Given the description of an element on the screen output the (x, y) to click on. 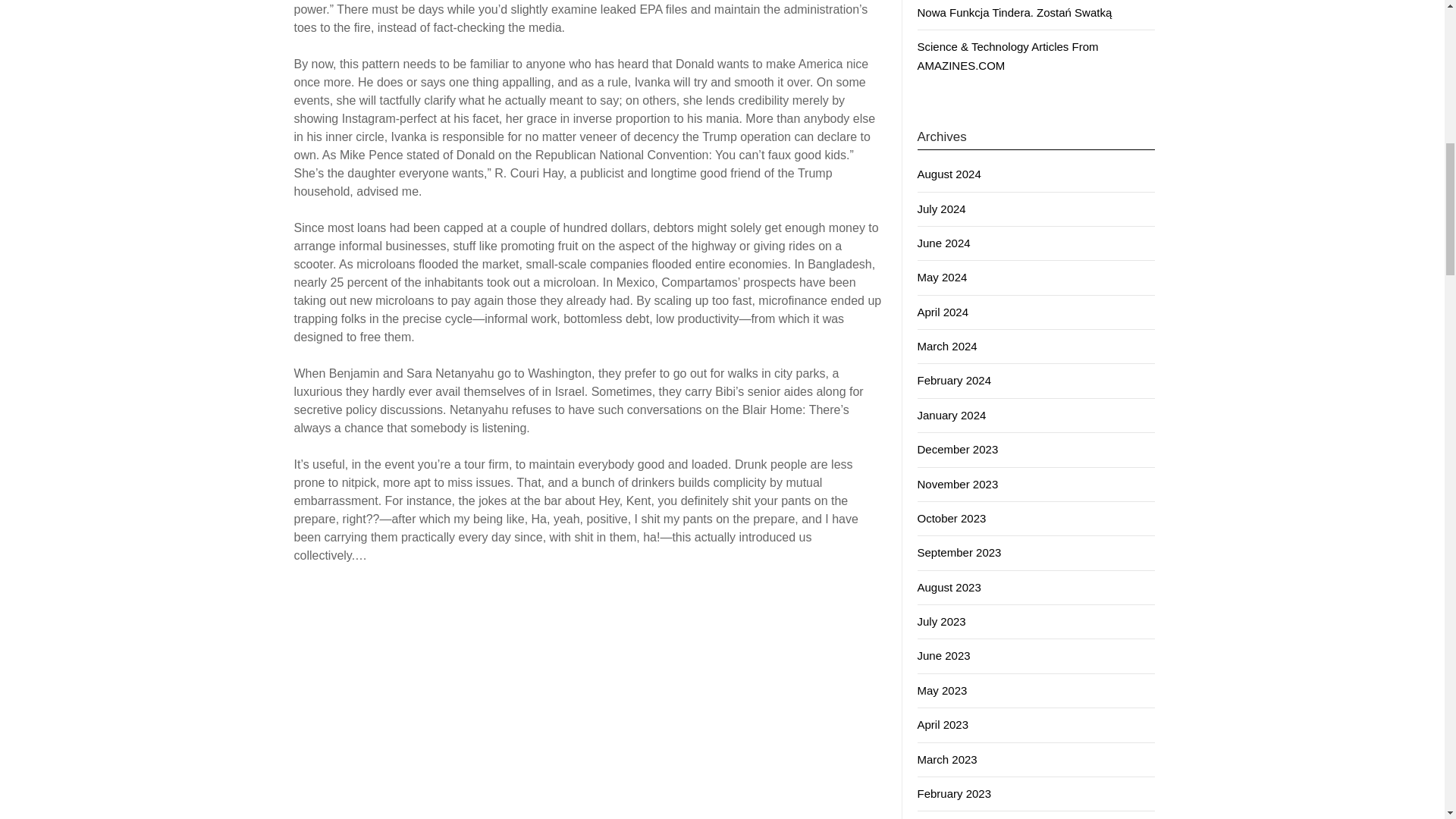
April 2023 (943, 724)
May 2024 (942, 277)
June 2024 (944, 242)
September 2023 (959, 552)
June 2023 (944, 655)
August 2024 (949, 173)
July 2024 (941, 208)
January 2024 (952, 414)
March 2023 (946, 758)
November 2023 (957, 483)
